Given the description of an element on the screen output the (x, y) to click on. 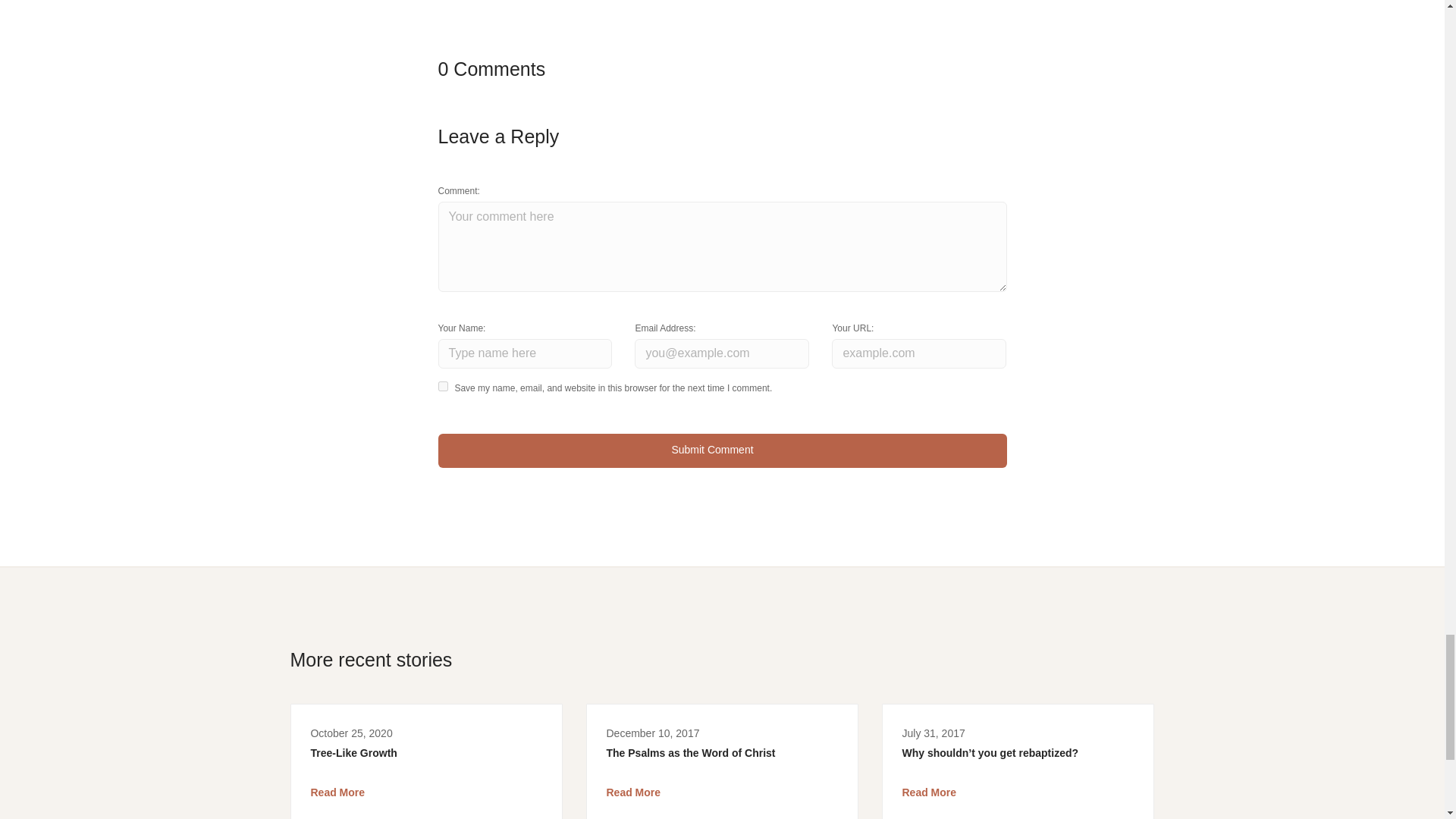
yes (443, 386)
Submit Comment (722, 451)
